Given the description of an element on the screen output the (x, y) to click on. 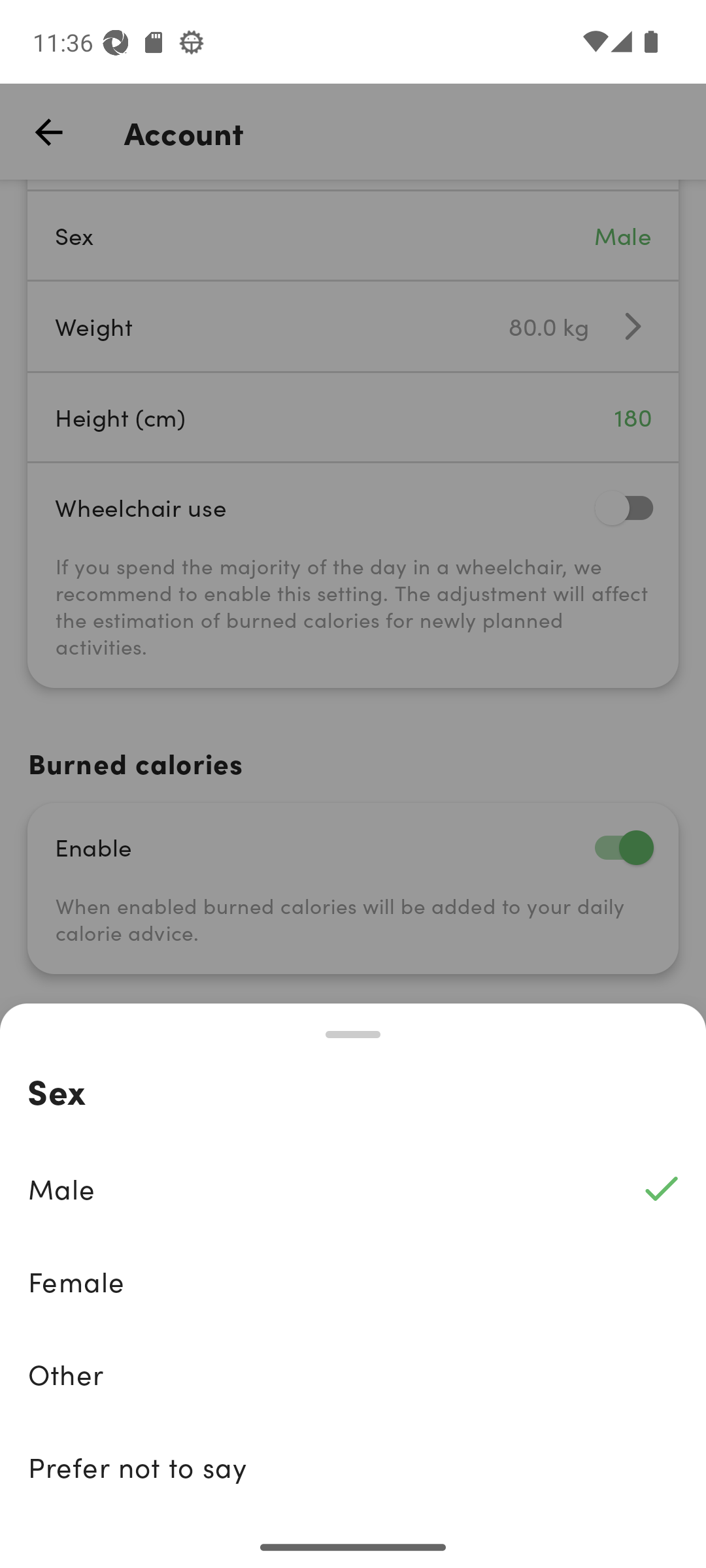
bottom_sheet_option Other bottom_sheet_option_text (353, 1374)
